Given the description of an element on the screen output the (x, y) to click on. 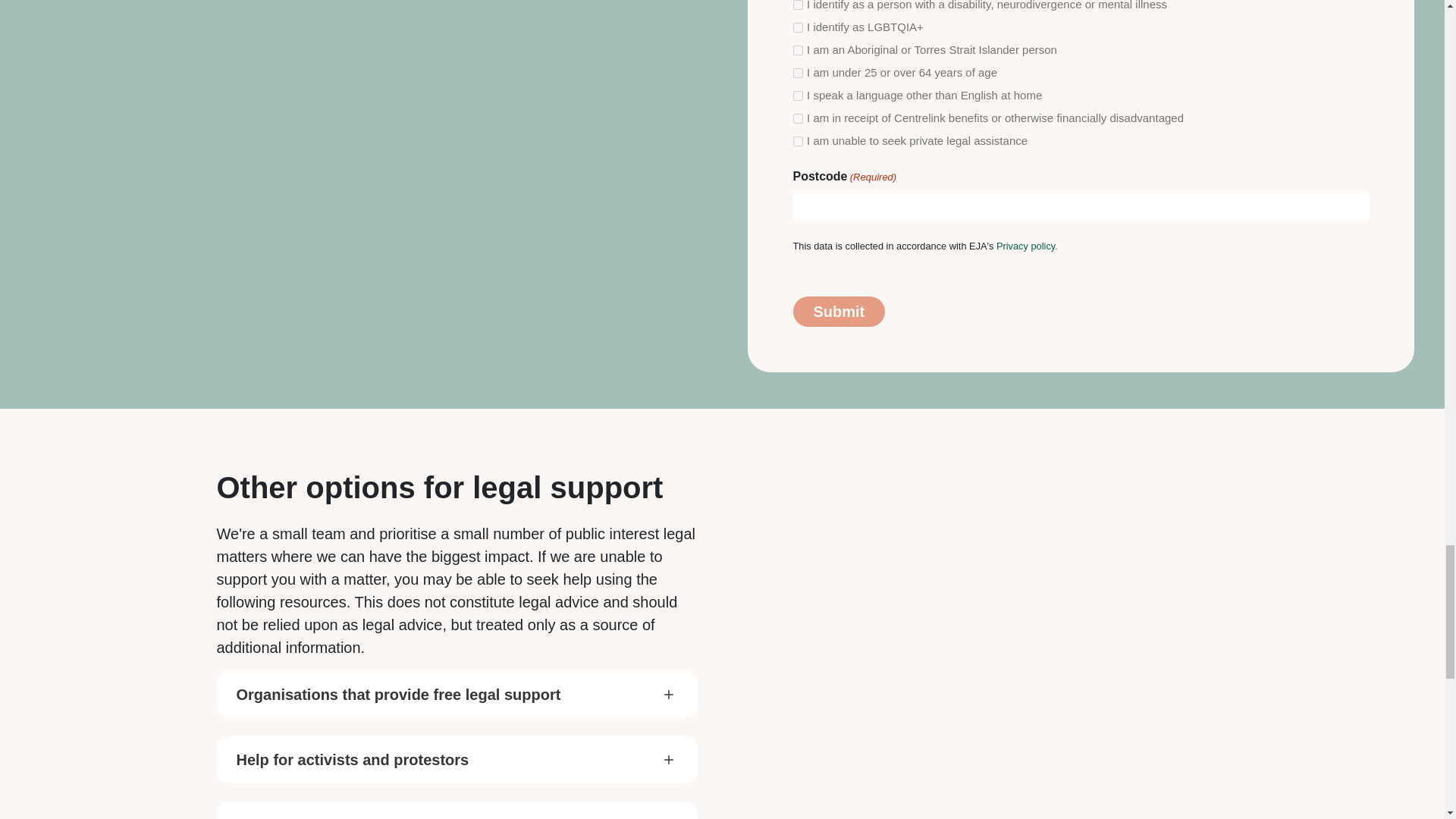
Submit (456, 694)
I am under 25 or over 64 years of age (839, 311)
I am an Aboriginal or Torres Strait Islander person (798, 72)
Privacy policy. (798, 50)
I am unable to seek private legal assistance (1026, 245)
I speak a language other than English at home (798, 141)
Submit (798, 95)
